Given the description of an element on the screen output the (x, y) to click on. 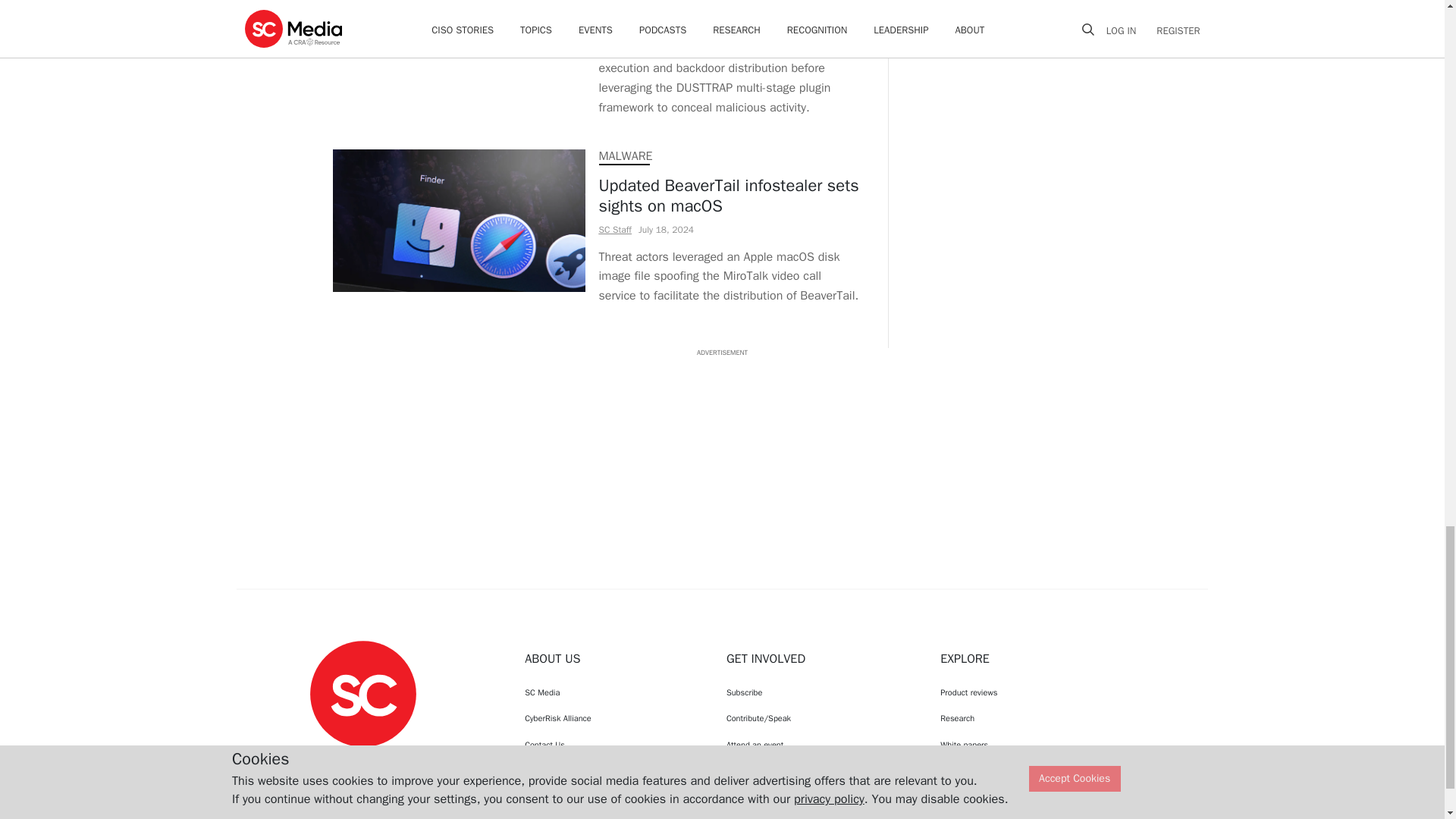
SC Media (612, 692)
SC Media (362, 693)
MALWARE (625, 155)
Updated BeaverTail infostealer sets sights on macOS (729, 196)
SCMagazine on LinkedIn (401, 760)
SCMagazine on Twitter (362, 760)
SCMagazine on Facebook (324, 760)
SC Staff (614, 229)
3rd party ad content (1012, 18)
